Given the description of an element on the screen output the (x, y) to click on. 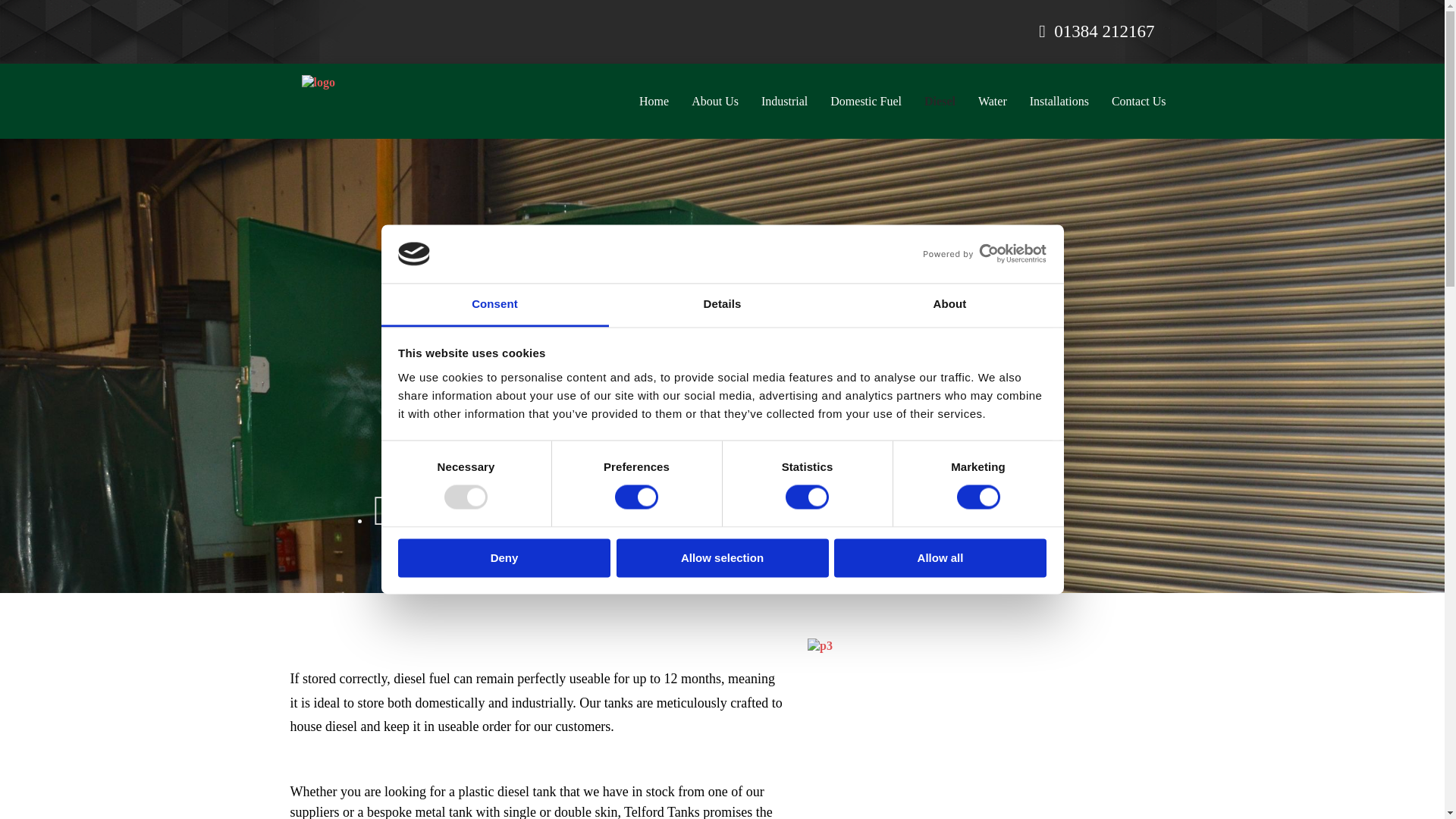
Consent (494, 304)
About Us (714, 100)
Details (721, 304)
About (948, 304)
Industrial (783, 100)
Allow selection (721, 557)
CONTACT US (721, 436)
  01384 212167 (1099, 31)
Water (991, 100)
Domestic Fuel (865, 100)
Home (653, 100)
Contact Us (1138, 100)
Diesel (939, 100)
Installations (1058, 100)
Allow all (940, 557)
